Given the description of an element on the screen output the (x, y) to click on. 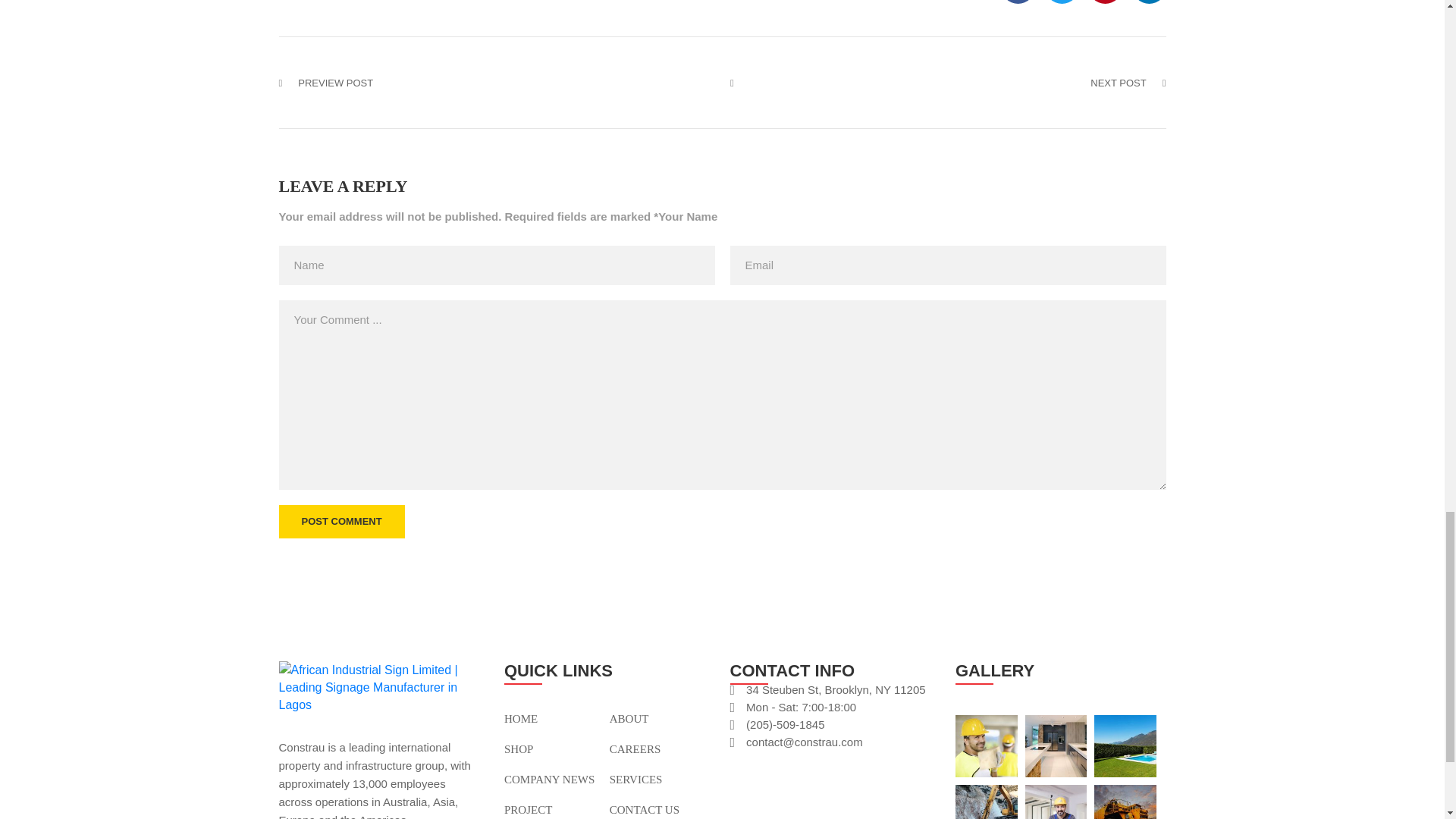
POST COMMENT (341, 521)
HOME (520, 718)
CAREERS (635, 748)
POST COMMENT (341, 521)
PROJECT (527, 809)
SERVICES (636, 779)
COMPANY NEWS (548, 779)
PREVIEW POST (326, 82)
NEXT POST (1128, 82)
ABOUT (629, 718)
SHOP (517, 748)
